Given the description of an element on the screen output the (x, y) to click on. 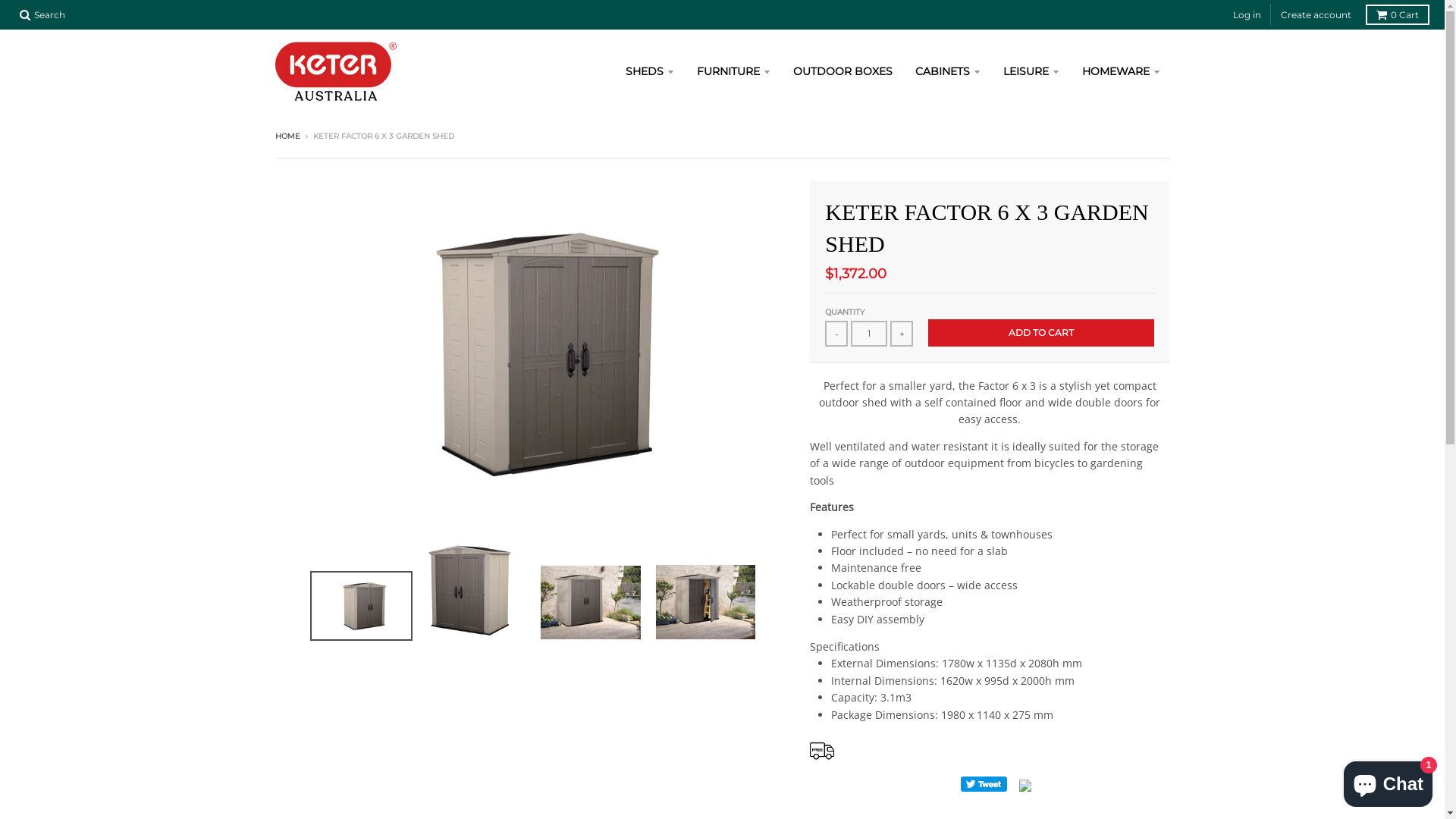
Tweet Element type: text (983, 783)
HOME Element type: text (286, 136)
SHEDS Element type: text (649, 70)
+ Element type: text (901, 333)
CABINETS Element type: text (947, 70)
ADD TO CART Element type: text (1041, 332)
LEISURE Element type: text (1031, 70)
- Element type: text (836, 333)
Create account Element type: text (1315, 14)
FURNITURE Element type: text (733, 70)
Log in Element type: text (1246, 14)
OUTDOOR BOXES Element type: text (841, 70)
Shopify online store chat Element type: hover (1388, 780)
0 Cart Element type: text (1397, 14)
HOMEWARE Element type: text (1121, 70)
Search Element type: text (42, 14)
